Given the description of an element on the screen output the (x, y) to click on. 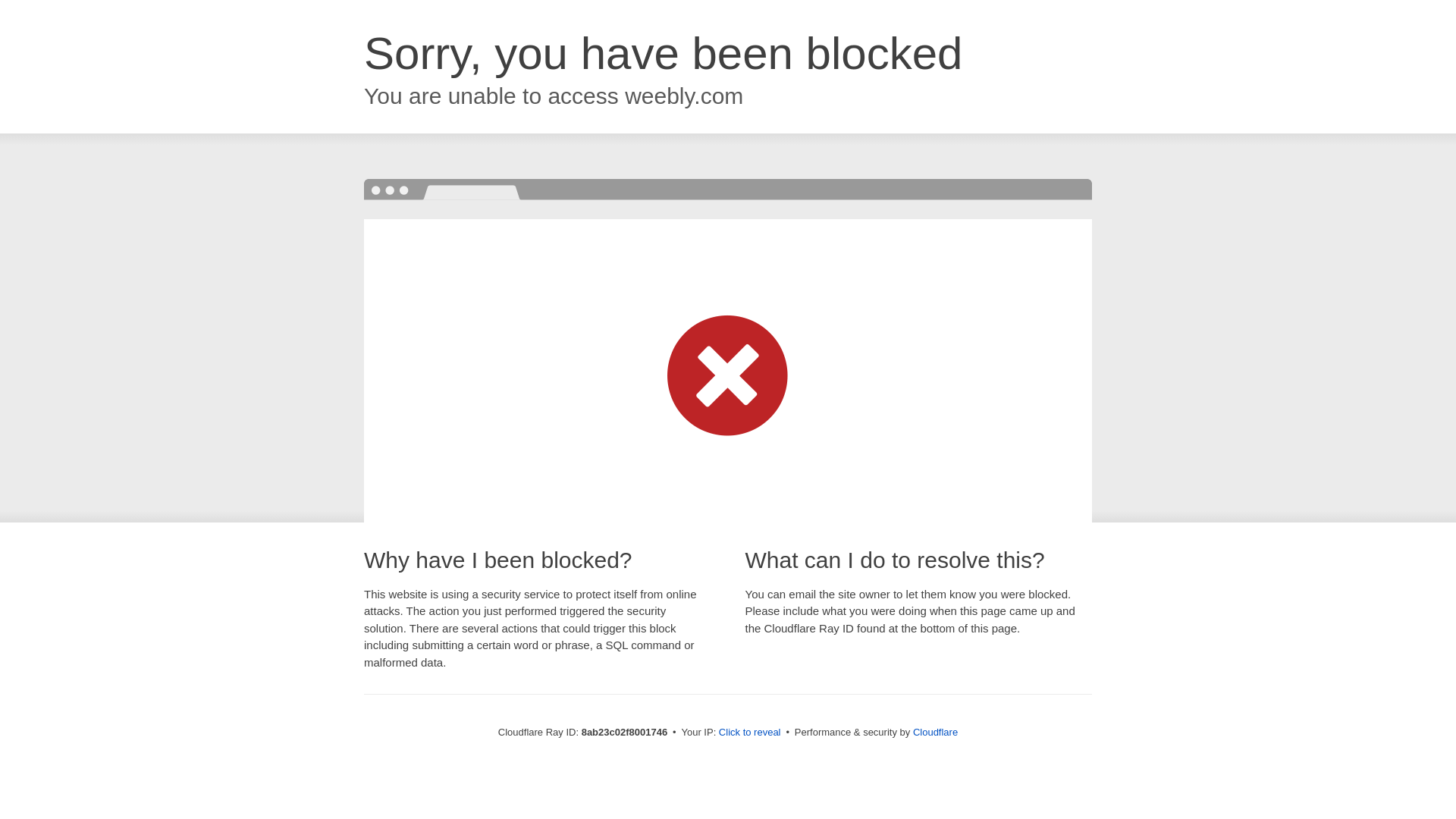
Click to reveal (749, 732)
Cloudflare (935, 731)
